Given the description of an element on the screen output the (x, y) to click on. 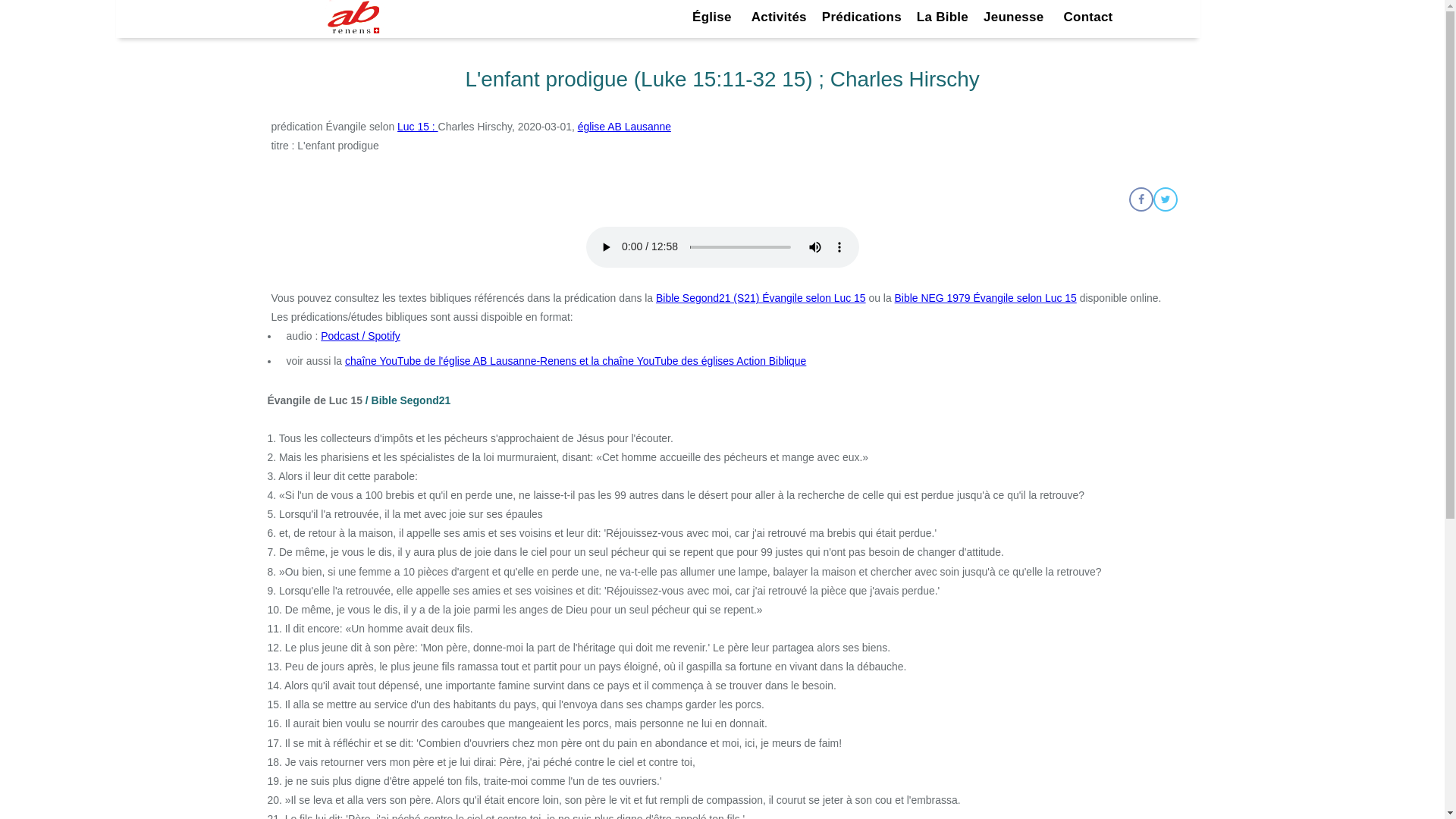
Podcast / Spotify Element type: text (360, 335)
Contact Element type: text (1087, 17)
Share on Twitter Element type: hover (1164, 199)
Share on Facebook Element type: hover (1140, 199)
Luc 15 : Element type: text (417, 126)
La Bible Element type: text (942, 17)
Jeunesse Element type: text (1015, 17)
